Given the description of an element on the screen output the (x, y) to click on. 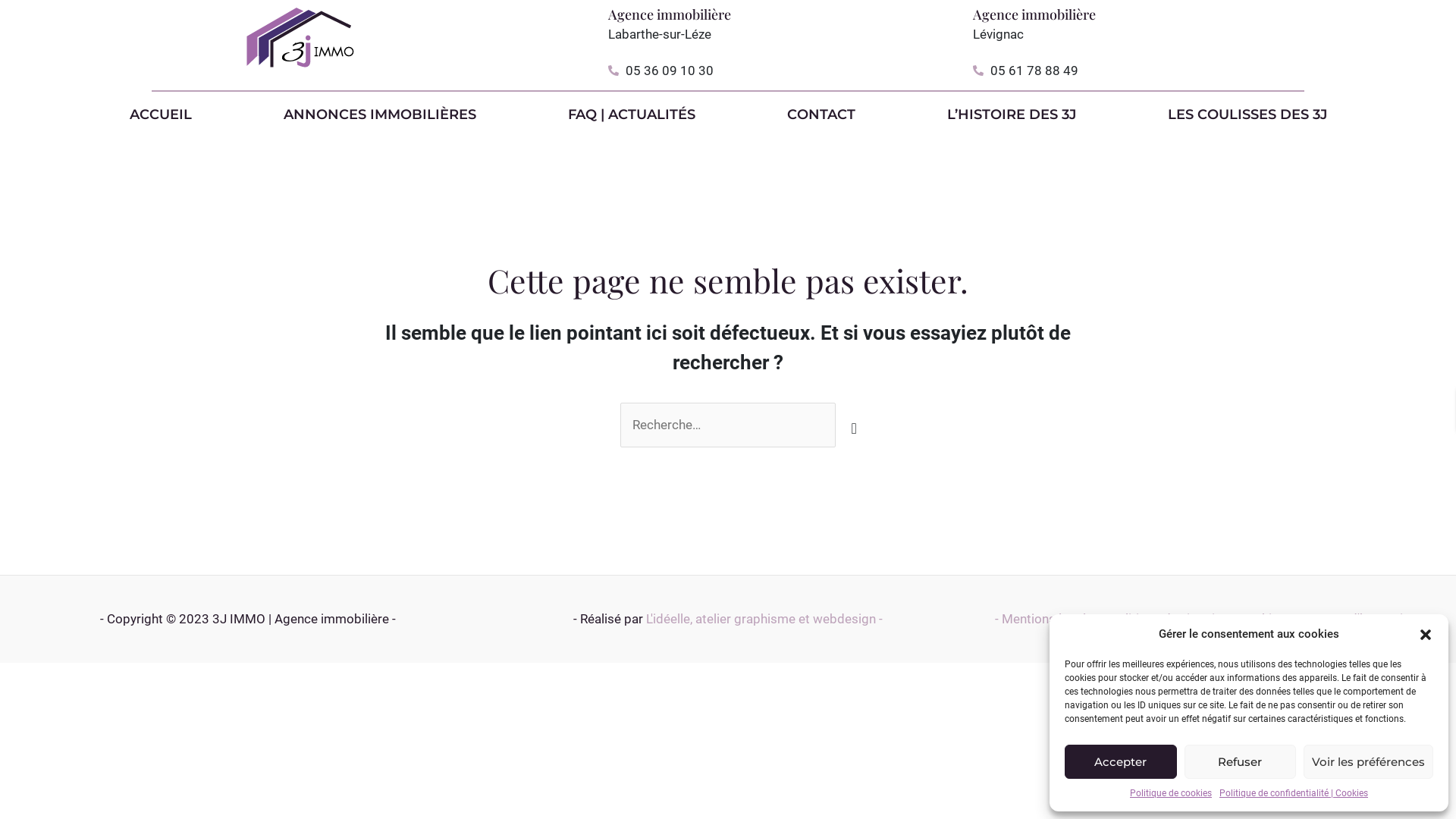
ACCUEIL Element type: text (160, 114)
CONTACT Element type: text (820, 114)
LES COULISSES DES 3J Element type: text (1246, 114)
Politique de cookies Element type: text (1170, 793)
Rechercher Element type: text (851, 418)
Accepter Element type: text (1120, 761)
Refuser Element type: text (1240, 761)
